Given the description of an element on the screen output the (x, y) to click on. 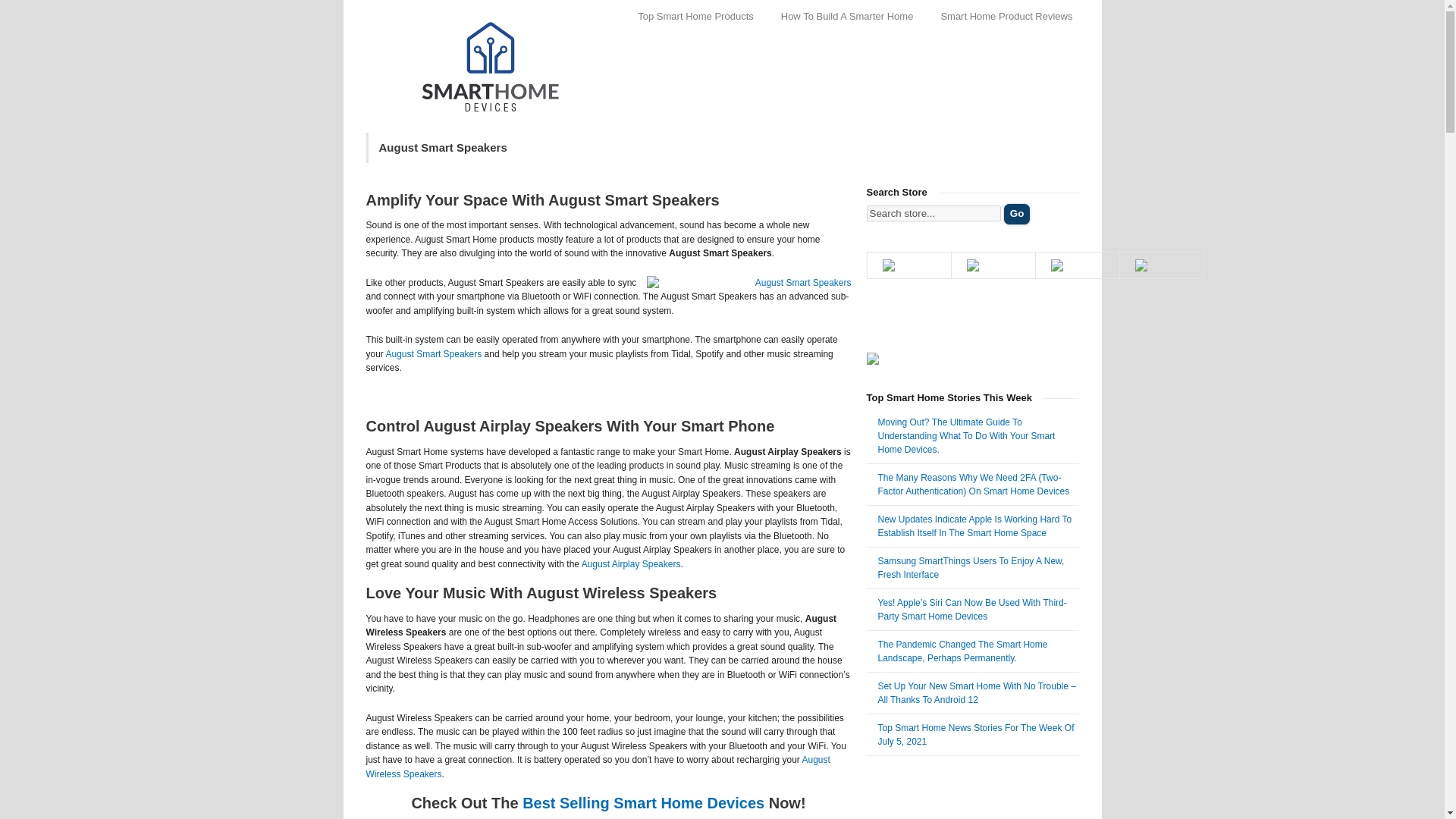
Top Smart Home News Stories For The Week Of July 5, 2021 (975, 733)
August Airplay Speakers (630, 562)
Go (1016, 214)
Search store... (933, 213)
How To Build A Smarter Home (847, 16)
August Smart Speakers (433, 353)
Samsung SmartThings Users To Enjoy A New, Fresh Interface (970, 567)
Smart Home Product Reviews (1006, 16)
